Given the description of an element on the screen output the (x, y) to click on. 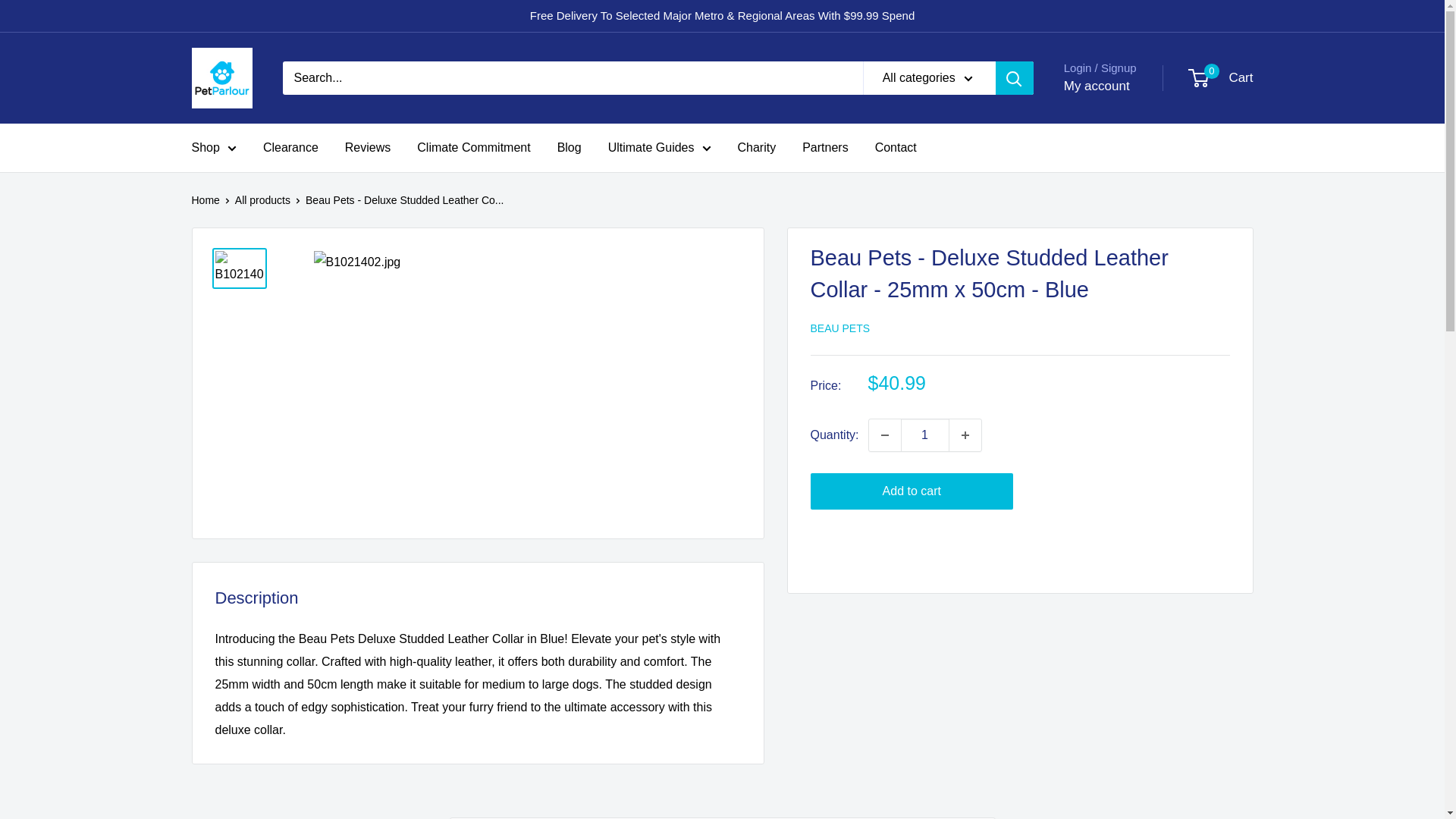
Decrease quantity by 1 (885, 435)
1 (925, 435)
Increase quantity by 1 (965, 435)
